Given the description of an element on the screen output the (x, y) to click on. 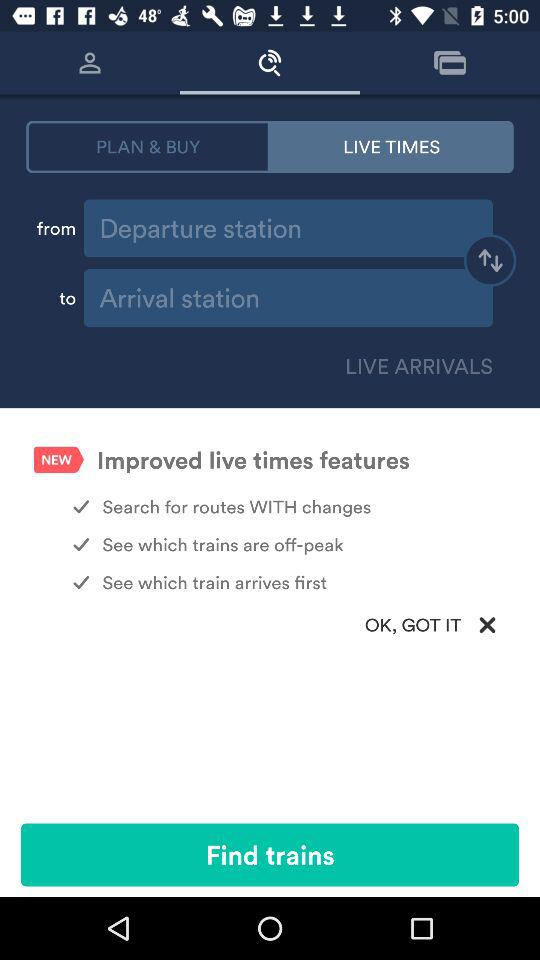
jump until live arrivals (415, 366)
